Given the description of an element on the screen output the (x, y) to click on. 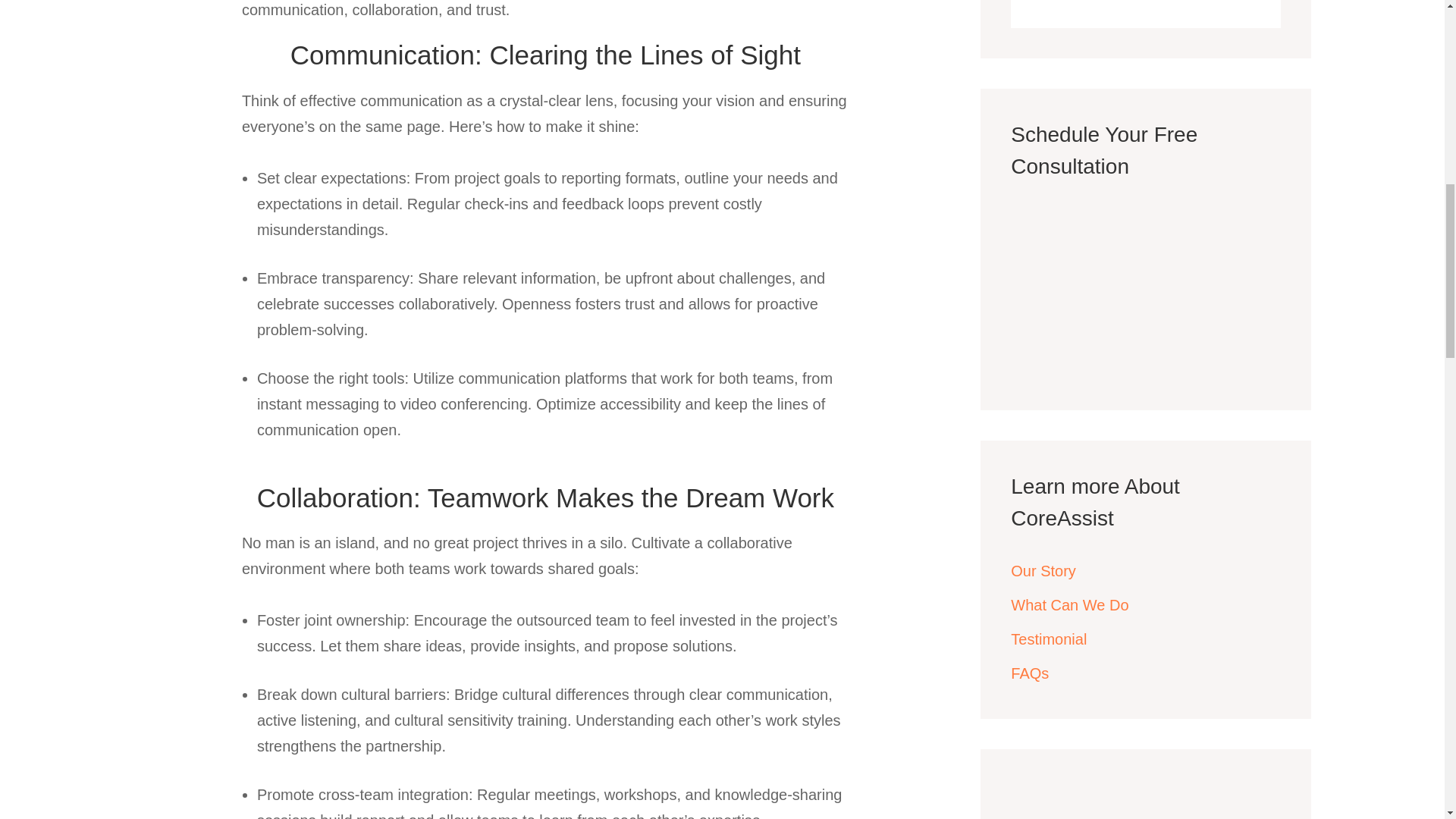
What Can We Do (1069, 605)
Our Story (1042, 570)
Testimonial (1048, 638)
FAQs (1029, 673)
